Given the description of an element on the screen output the (x, y) to click on. 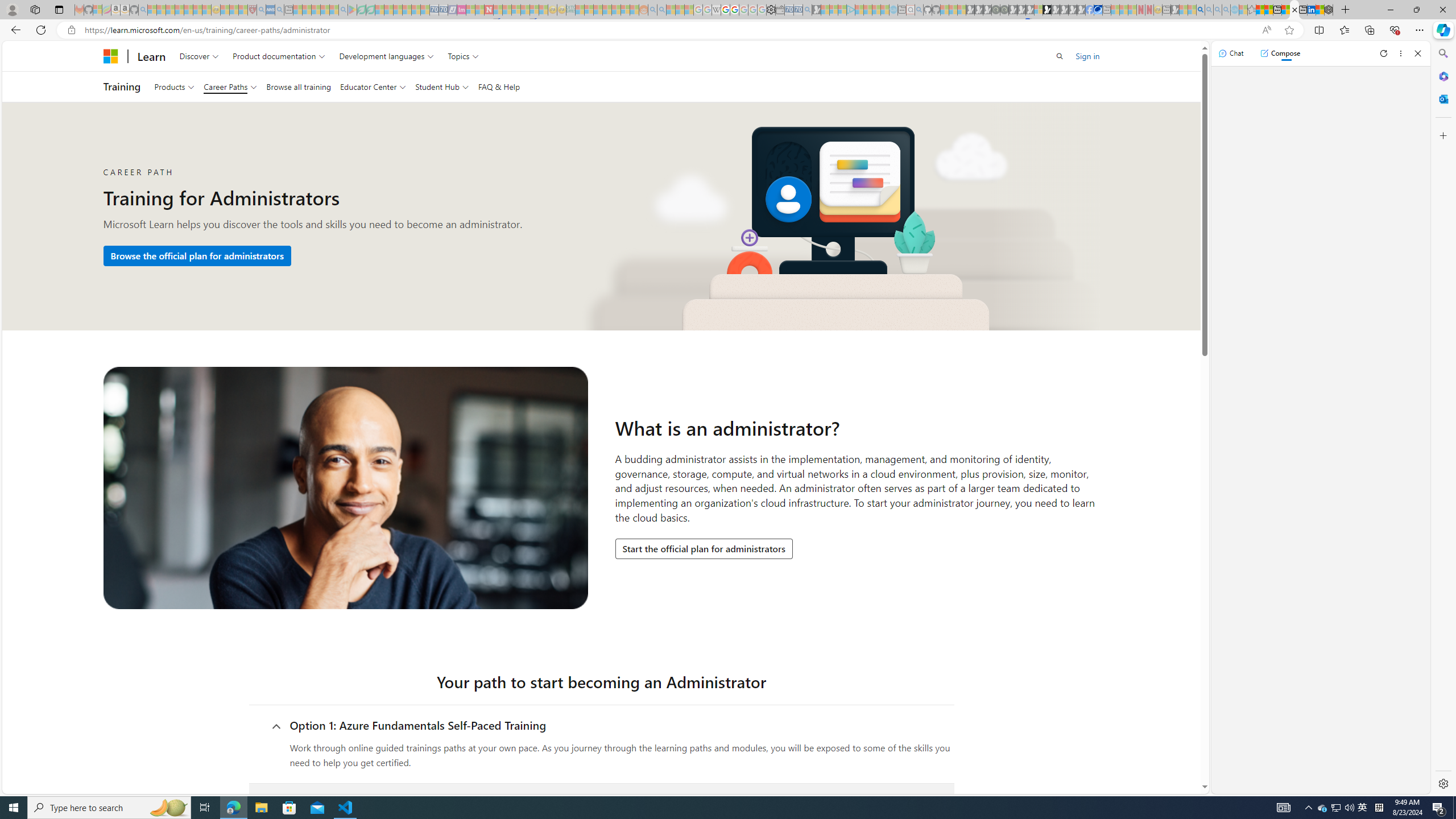
Sign in to your account - Sleeping (1038, 9)
14 Common Myths Debunked By Scientific Facts - Sleeping (506, 9)
NCL Adult Asthma Inhaler Choice Guideline - Sleeping (269, 9)
Learn (151, 56)
Products (174, 86)
Training for Administrators | Microsoft Learn (1294, 9)
Recipes - MSN - Sleeping (224, 9)
Close Customize pane (1442, 135)
LinkedIn (1311, 9)
Microsoft Start Gaming - Sleeping (815, 9)
